Given the description of an element on the screen output the (x, y) to click on. 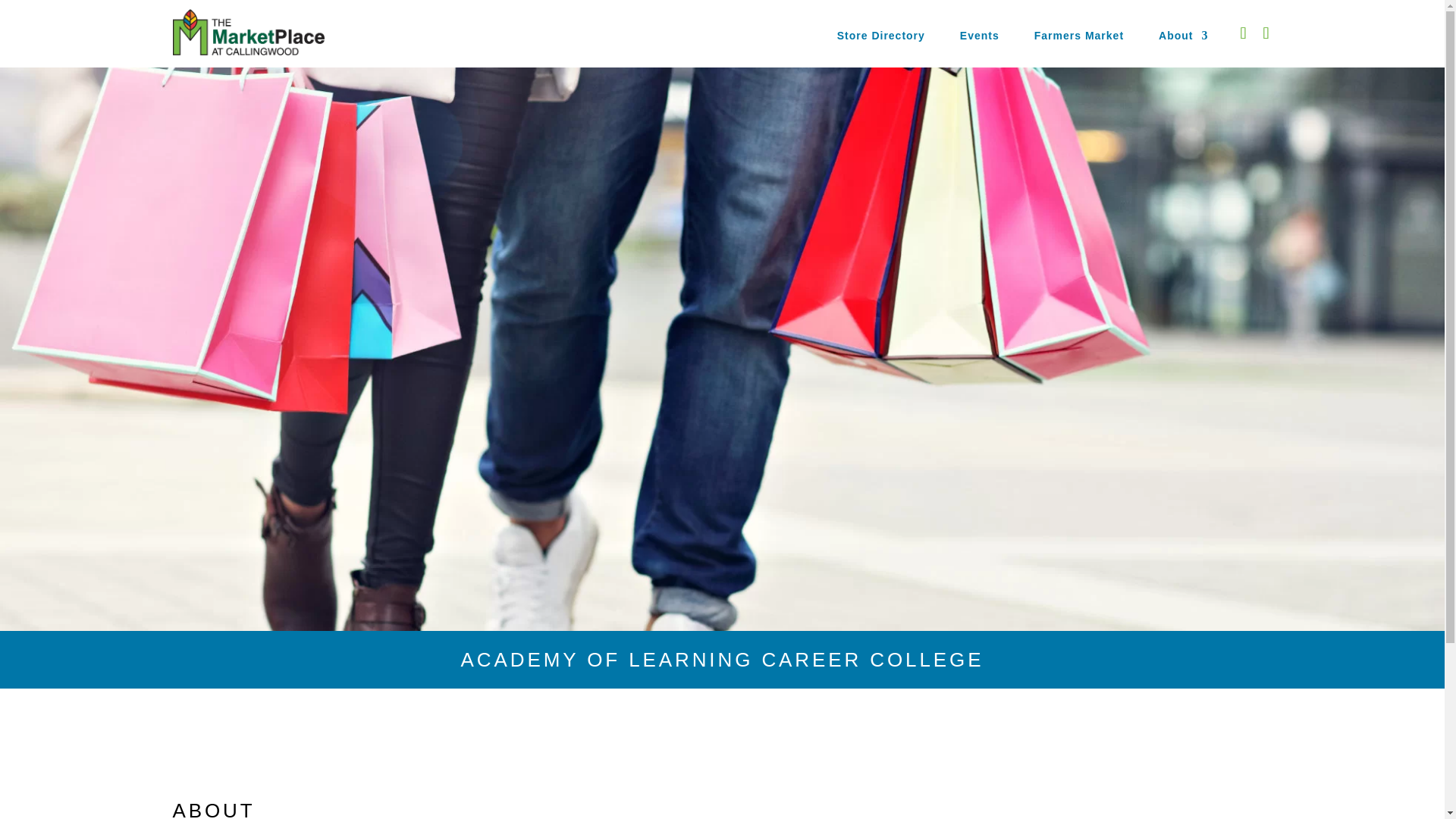
About (1183, 38)
Store Directory (880, 38)
Farmers Market (1078, 38)
Follow on Facebook (1243, 32)
Events (978, 38)
cwmp-logo-lrg (248, 32)
Follow on X (1265, 32)
